Given the description of an element on the screen output the (x, y) to click on. 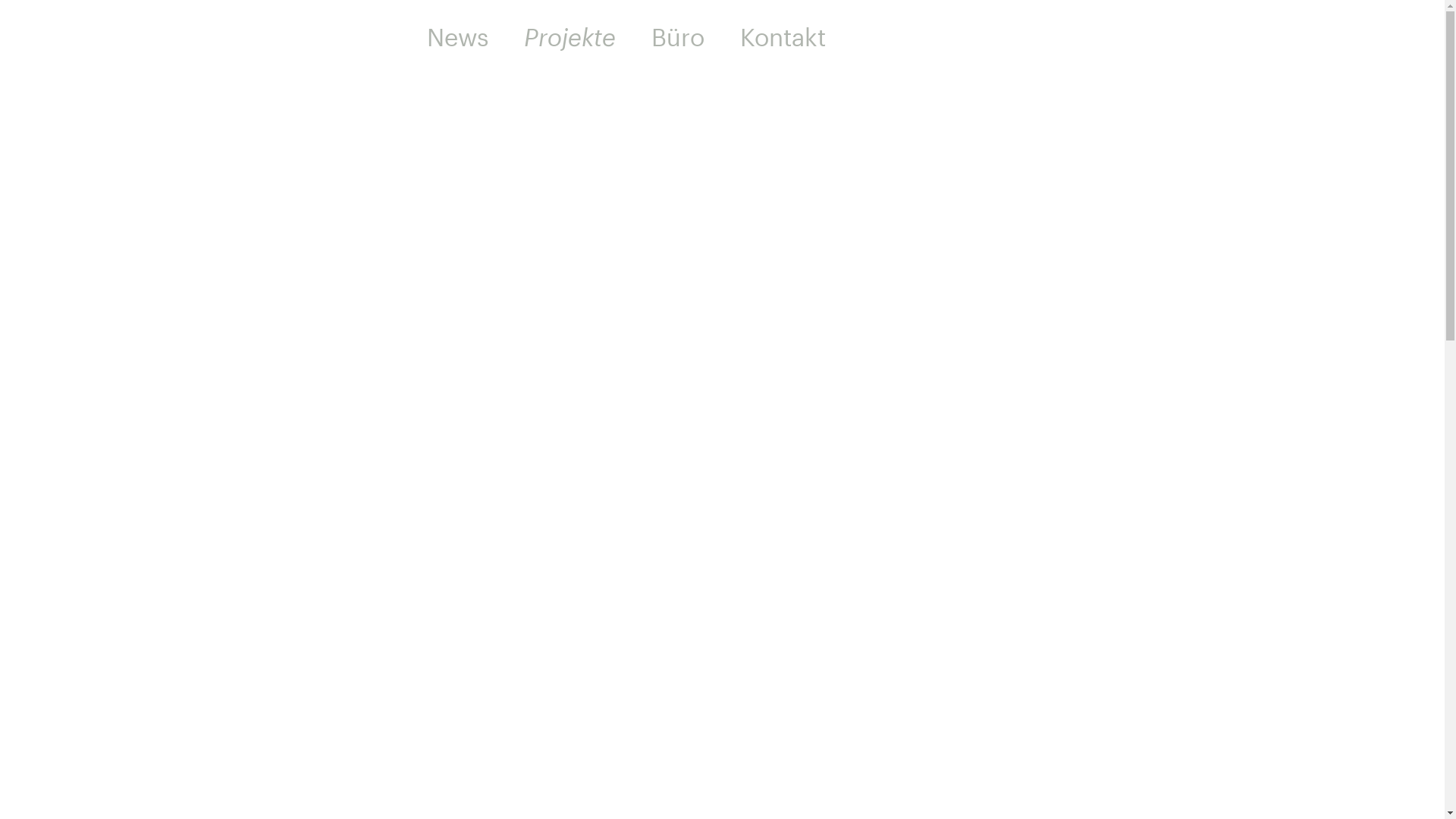
Kontakt Element type: text (782, 36)
News Element type: text (456, 36)
Projekte Element type: text (569, 36)
